Given the description of an element on the screen output the (x, y) to click on. 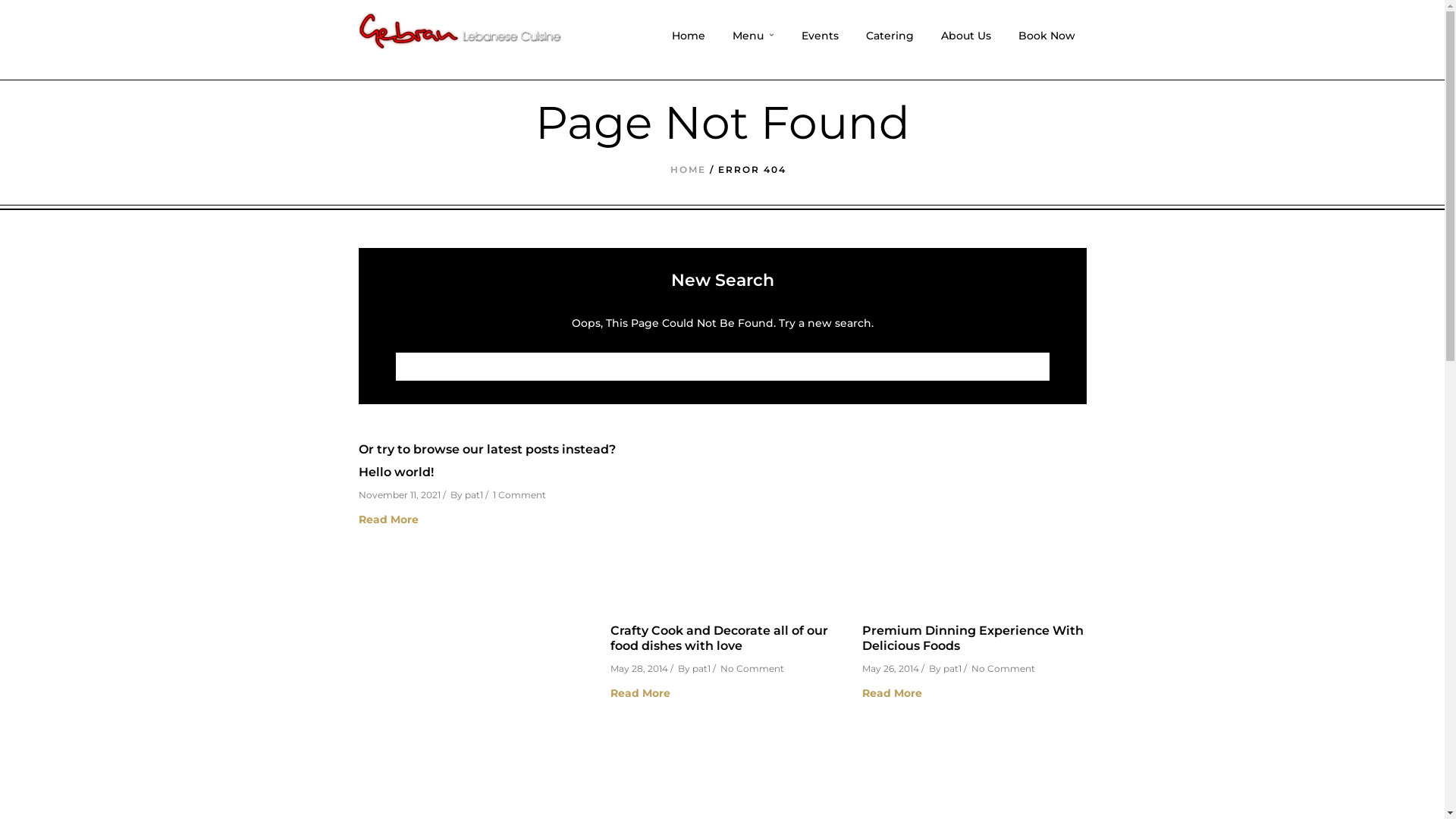
pat1 Element type: text (952, 668)
pat1 Element type: text (473, 494)
Events Element type: text (820, 46)
No Comment Element type: text (752, 668)
Read More Element type: text (475, 519)
Hello world! Element type: text (395, 471)
pat1 Element type: text (700, 668)
About Us Element type: text (965, 46)
Menu Element type: text (752, 46)
Premium Dinning Experience With Delicious Foods Element type: text (971, 637)
1 Comment Element type: text (519, 494)
Read More Element type: text (979, 693)
Read More Element type: text (727, 693)
Book Now Element type: text (1046, 46)
Home Element type: text (687, 46)
Catering Element type: text (888, 46)
Crafty Cook and Decorate all of our food dishes with love Element type: text (718, 637)
Type and hit enter Element type: hover (721, 366)
No Comment Element type: text (1002, 668)
HOME Element type: text (688, 169)
